Given the description of an element on the screen output the (x, y) to click on. 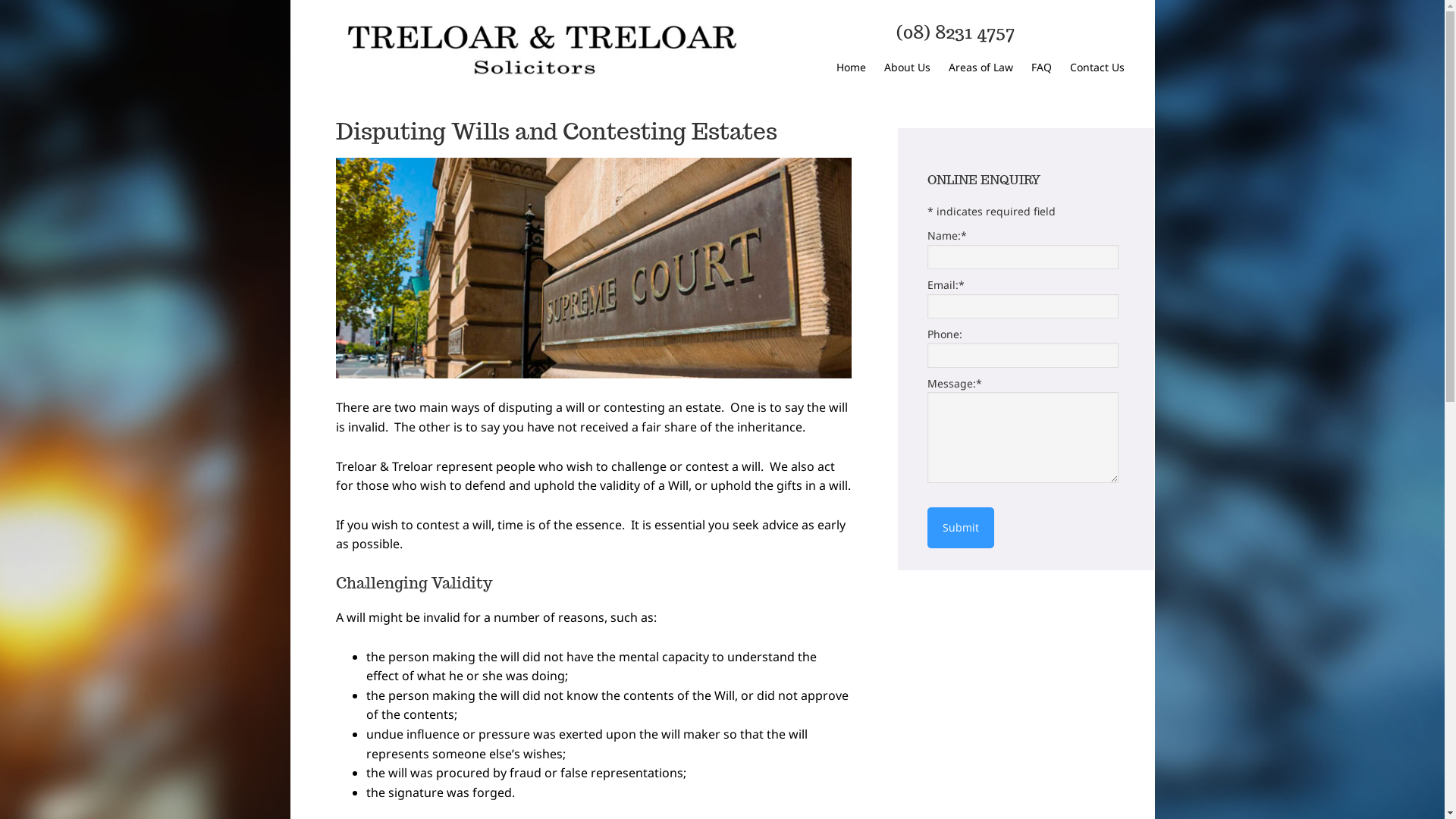
Contact Us Element type: text (1096, 68)
Skip to main content Element type: text (289, 0)
Treloar & Treloar Element type: hover (539, 50)
About Us Element type: text (907, 68)
Submit Element type: text (959, 527)
Areas of Law Element type: text (979, 68)
Home Element type: text (850, 68)
FAQ Element type: text (1041, 68)
